Given the description of an element on the screen output the (x, y) to click on. 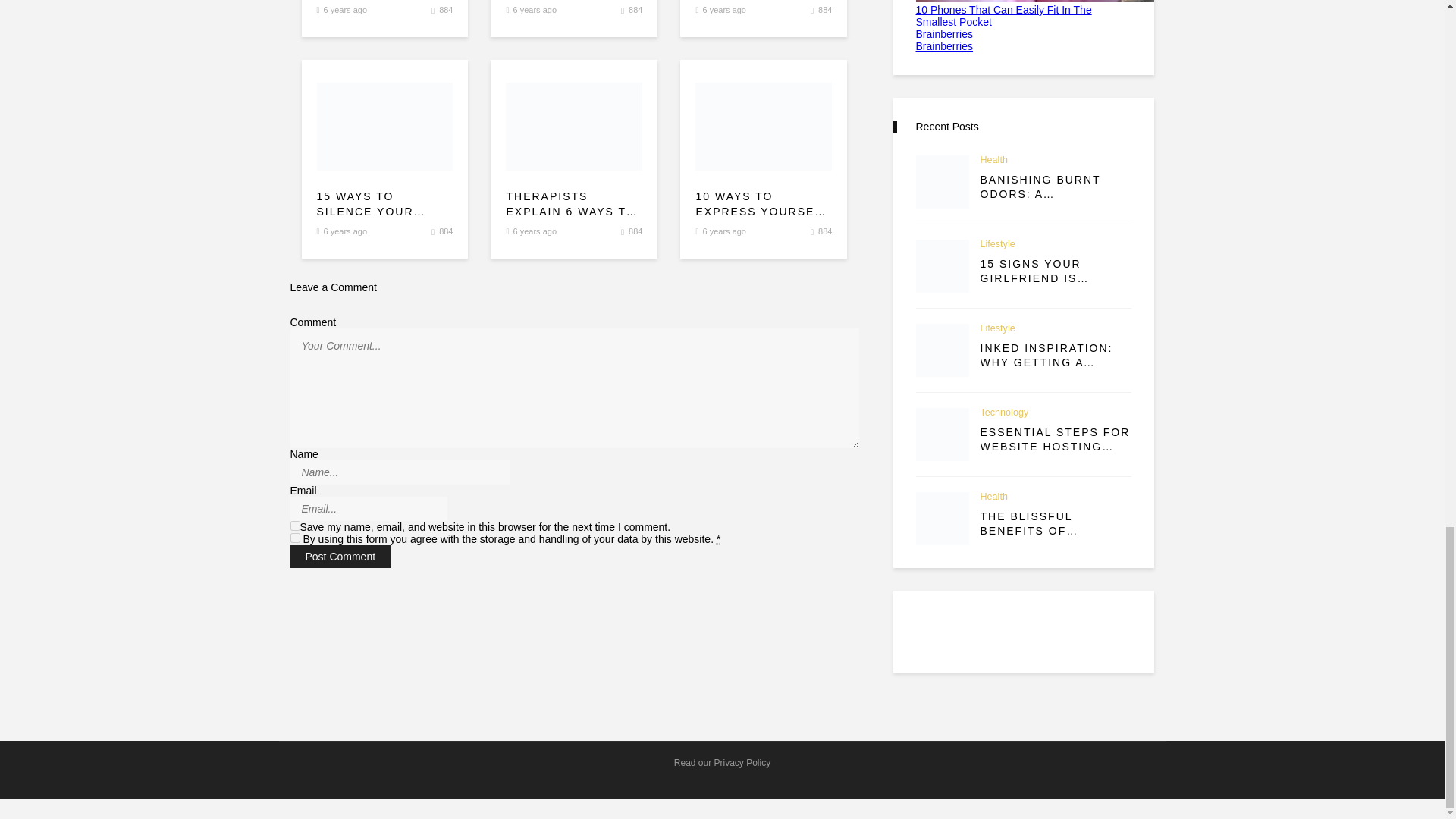
5 Easy Ways to Kill Time at an Airport (445, 9)
yes (294, 525)
1 (294, 537)
Post Comment (339, 556)
